Given the description of an element on the screen output the (x, y) to click on. 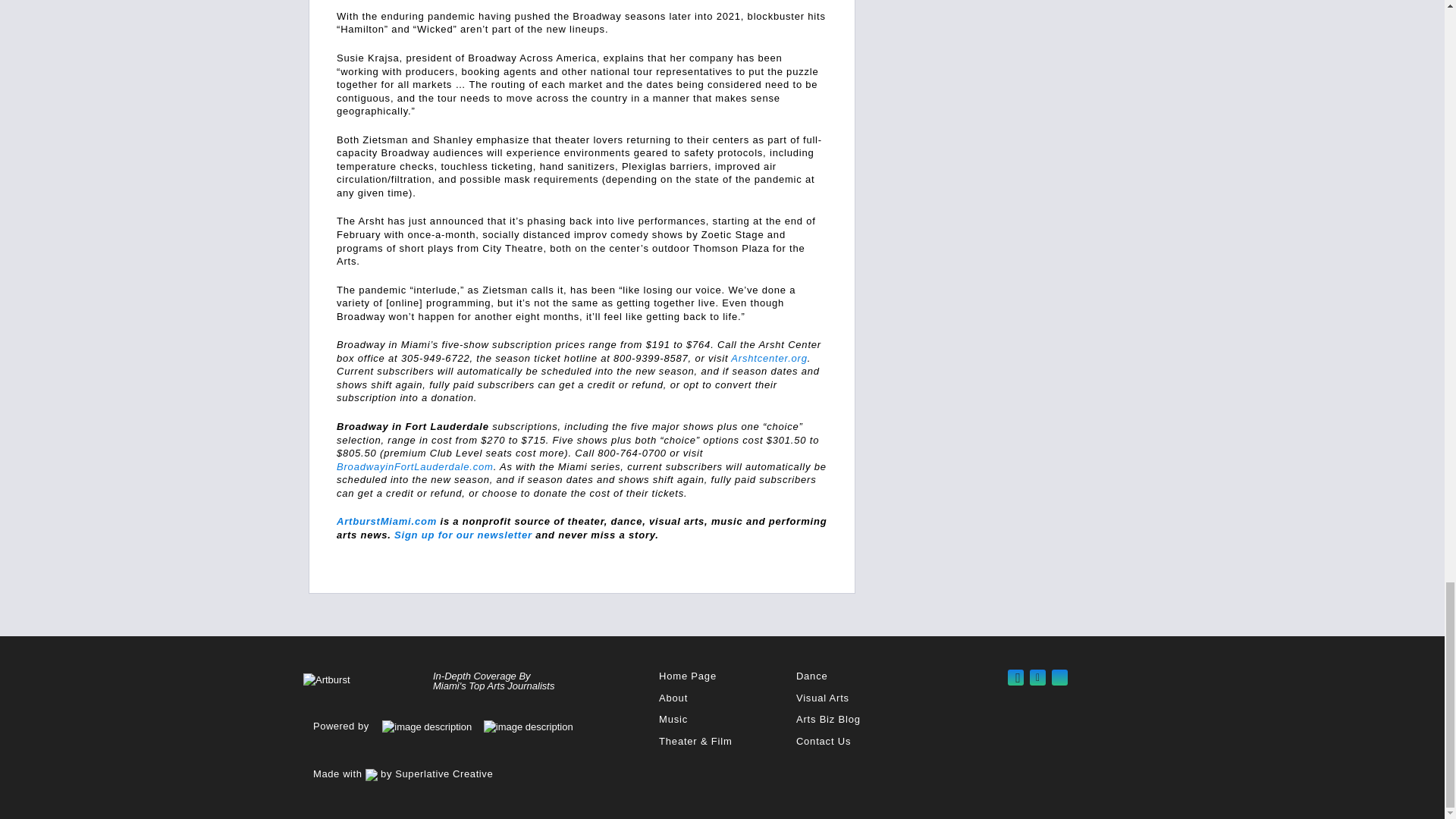
BroadwayinFortLauderdale.com (414, 466)
Sign up for our newsletter (463, 534)
Music (673, 718)
ArtburstMiami.com (386, 521)
Arts Biz Blog (828, 718)
Home Page (687, 675)
Contact Us (823, 740)
Visual Arts (822, 697)
Arshtcenter.org (768, 357)
Dance (812, 675)
